Given the description of an element on the screen output the (x, y) to click on. 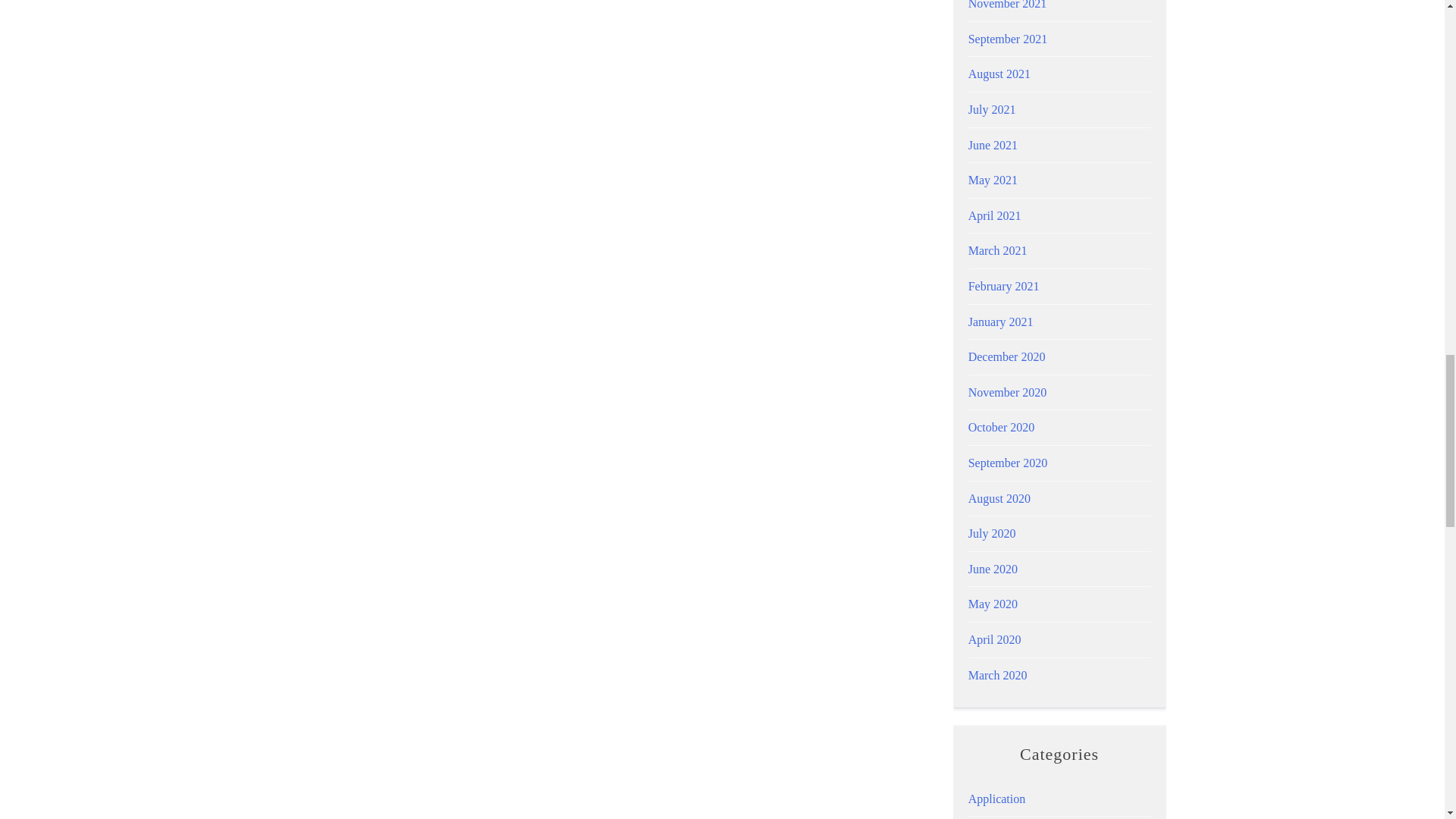
September 2021 (1007, 38)
November 2021 (1007, 4)
